Given the description of an element on the screen output the (x, y) to click on. 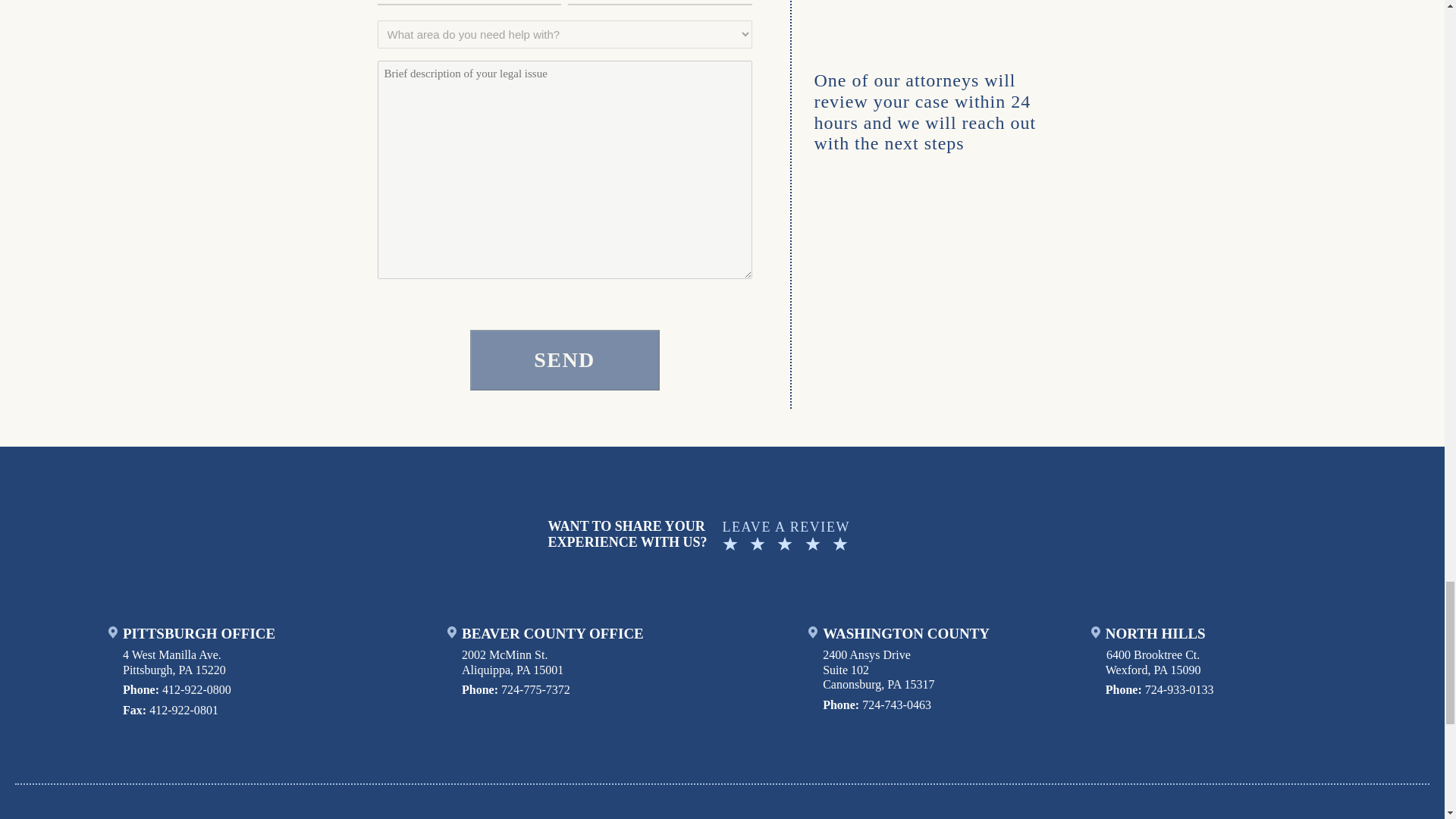
Send (564, 360)
412-922-0800 (196, 689)
LEAVE A REVIEW (898, 534)
Send (564, 360)
724-933-0133 (1179, 689)
724-743-0463 (896, 704)
724-775-7372 (535, 689)
